Given the description of an element on the screen output the (x, y) to click on. 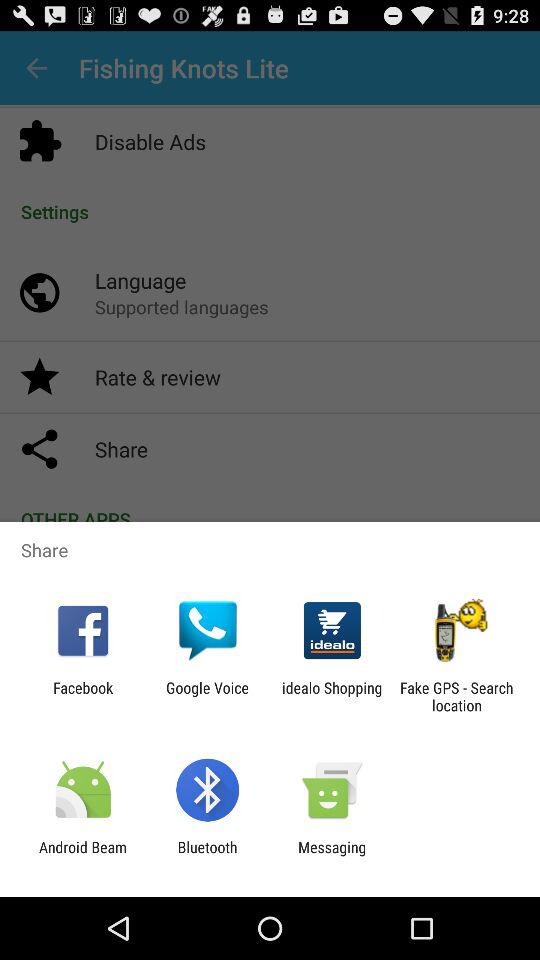
select item next to the google voice app (83, 696)
